Given the description of an element on the screen output the (x, y) to click on. 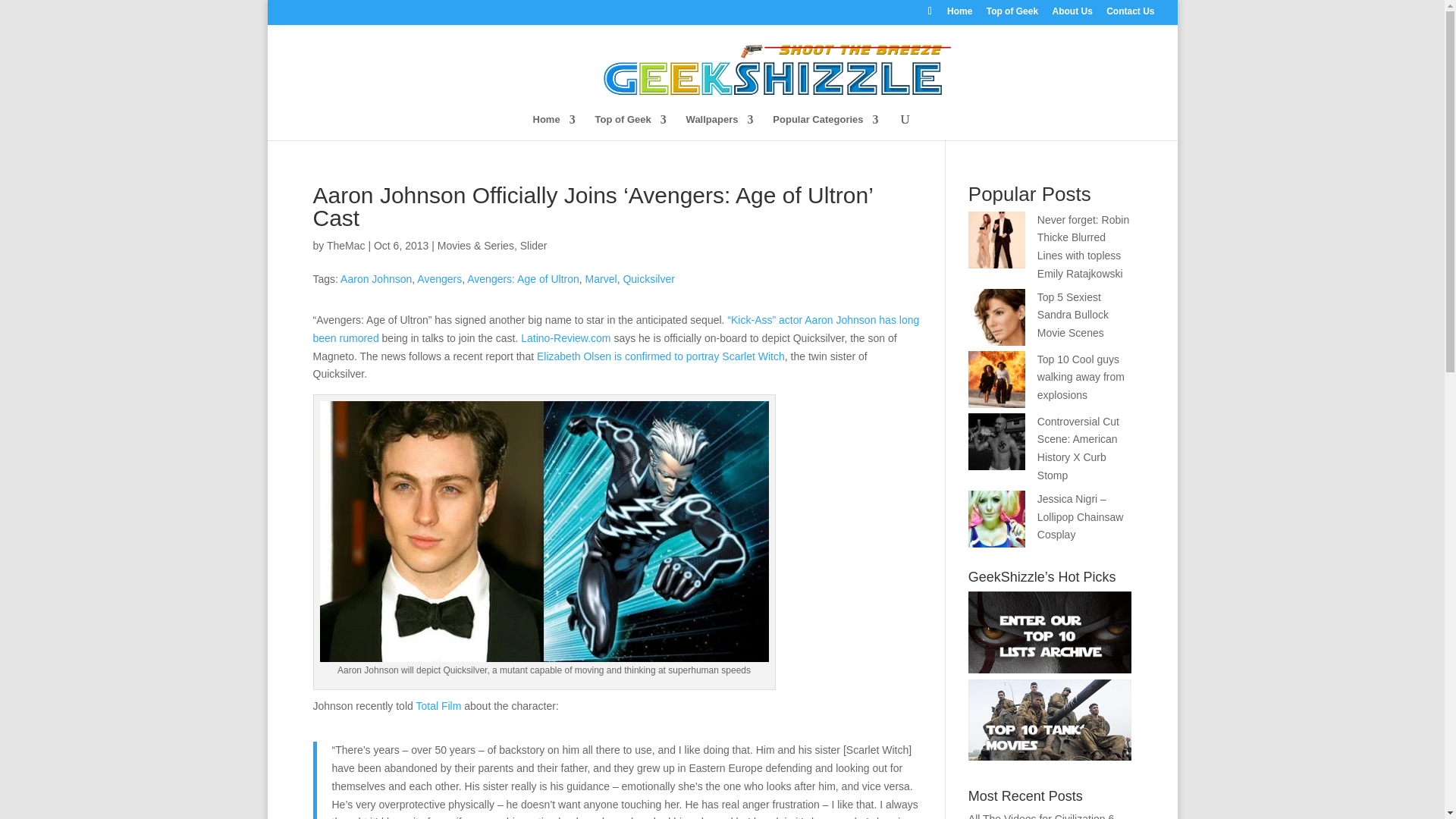
Contact Us (1130, 14)
Top of Geek (1012, 14)
Top of Geek (630, 126)
Avengers (438, 278)
About Us (1071, 14)
Avengers: Age of Ultron (523, 278)
TheMac (345, 245)
Home (553, 126)
Slider (533, 245)
Posts by TheMac (345, 245)
